Given the description of an element on the screen output the (x, y) to click on. 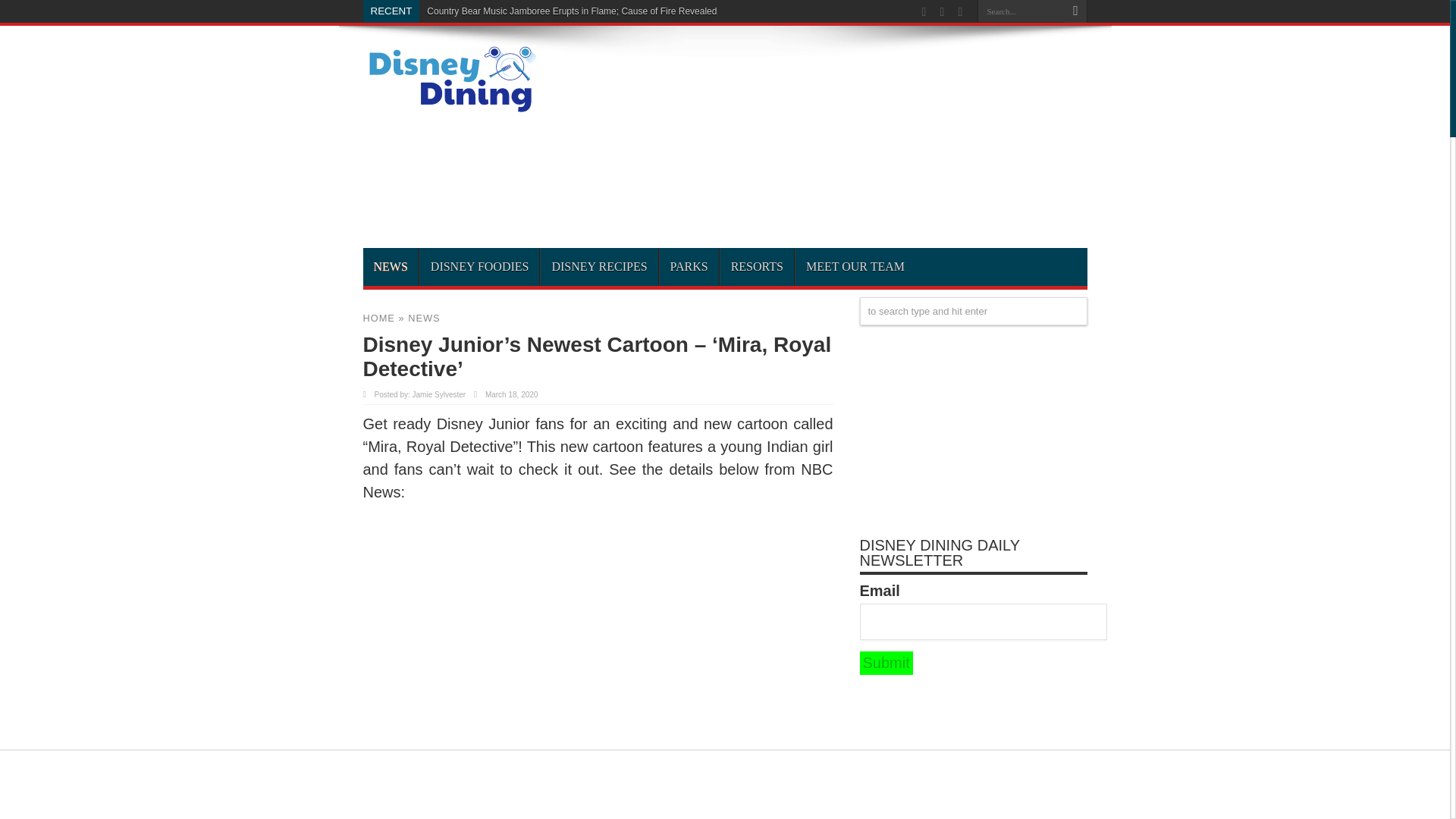
HOME (378, 317)
Search (1075, 11)
MEET OUR TEAM (854, 266)
DISNEY RECIPES (599, 266)
DISNEY FOODIES (479, 266)
NEWS (389, 266)
PARKS (689, 266)
RESORTS (756, 266)
to search type and hit enter (973, 311)
Submit (886, 662)
Disney Dining (448, 107)
Jamie Sylvester (438, 394)
NEWS (423, 317)
